Given the description of an element on the screen output the (x, y) to click on. 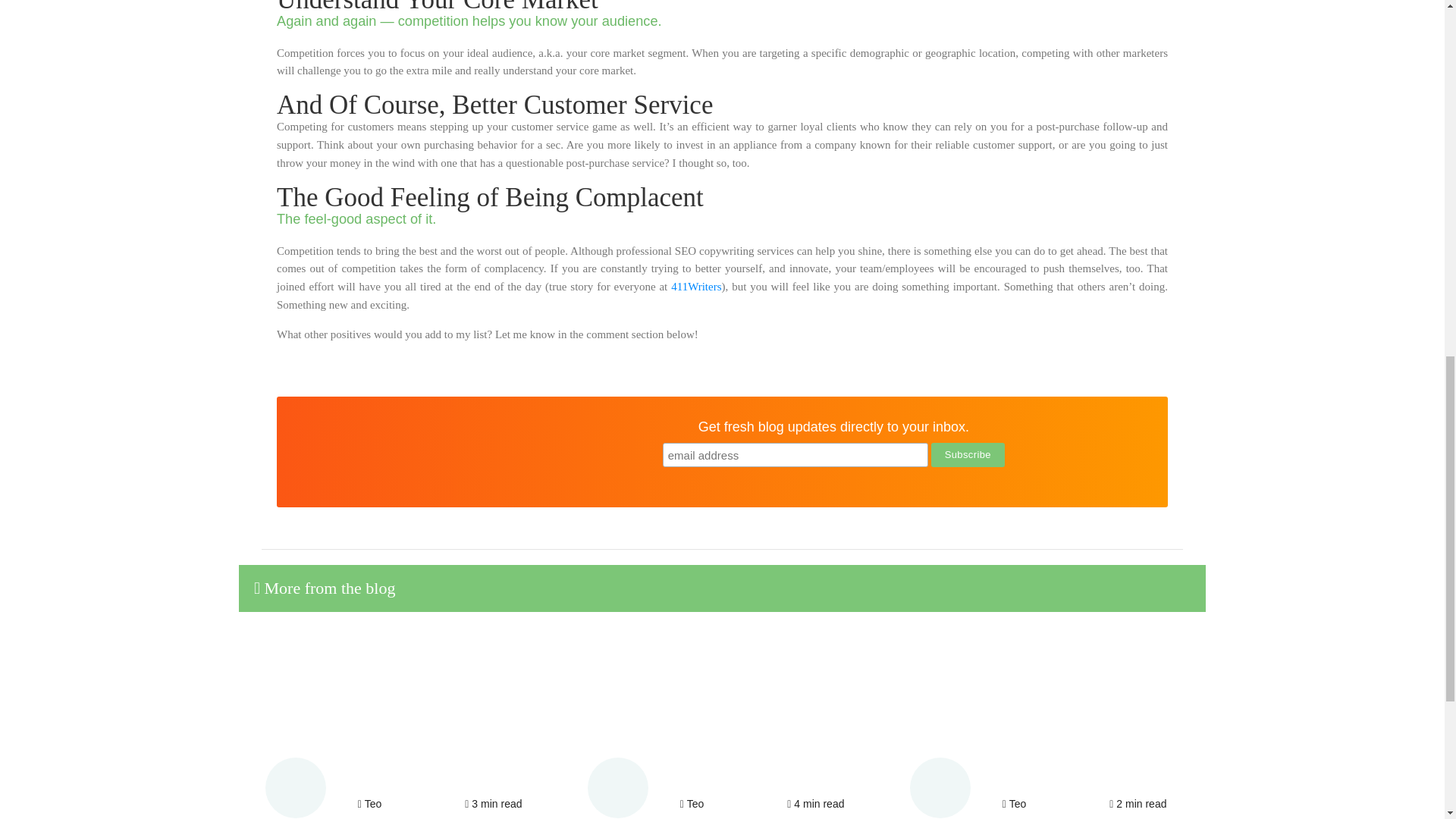
Subscribe (967, 454)
Subscribe (967, 454)
Welcome to 411Writers (695, 286)
411Writers (695, 286)
